Given the description of an element on the screen output the (x, y) to click on. 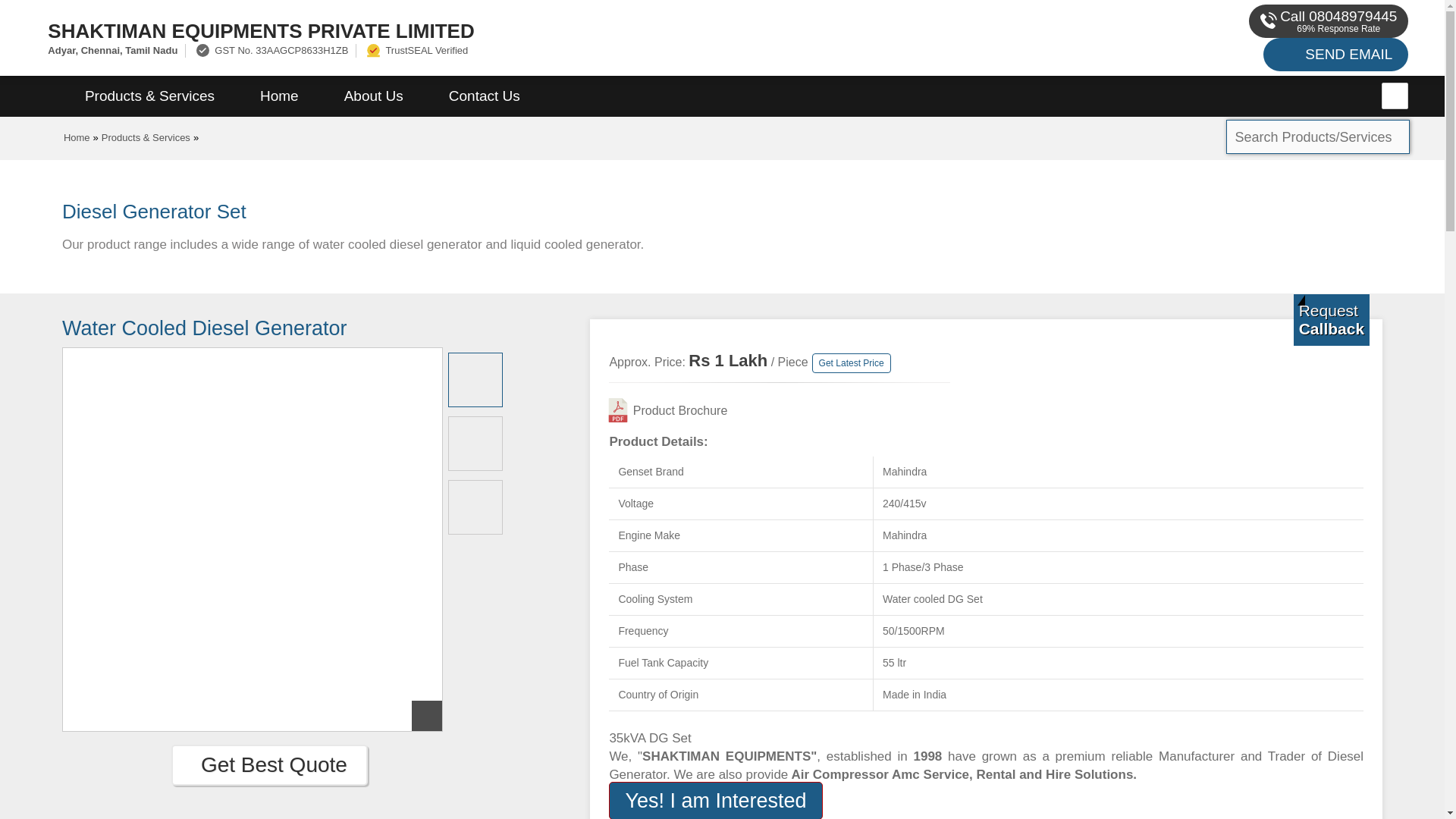
Home (279, 96)
About Us (373, 96)
Get a Call from us (1332, 319)
SHAKTIMAN EQUIPMENTS PRIVATE LIMITED (485, 31)
Contact Us (484, 96)
Home (77, 137)
